Given the description of an element on the screen output the (x, y) to click on. 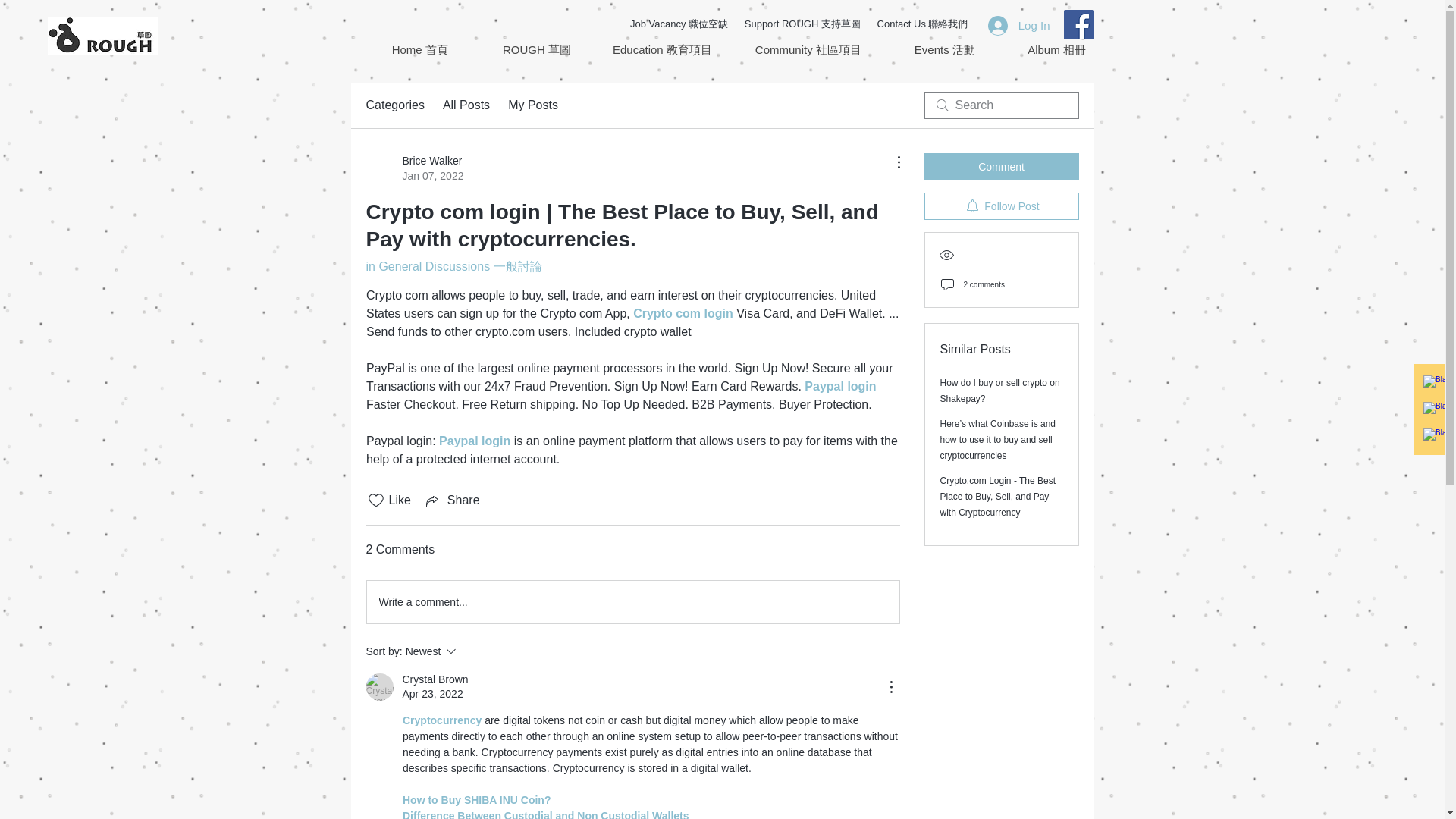
Log In (414, 168)
Crystal Brown (1018, 24)
All Posts (379, 687)
Categories (465, 105)
My Posts (394, 105)
